Given the description of an element on the screen output the (x, y) to click on. 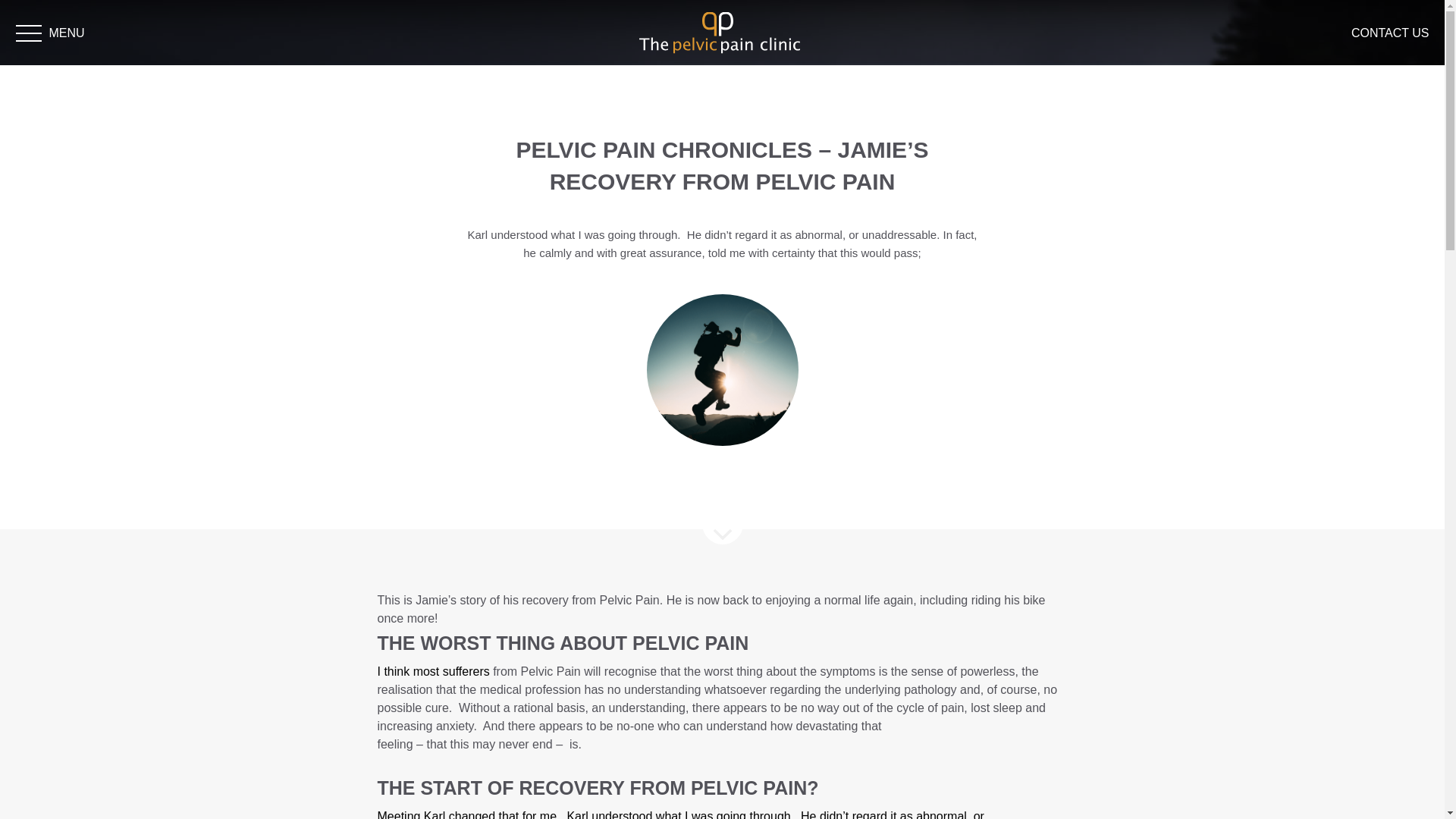
MENU (75, 42)
CONTACT US (1390, 31)
Scroll (721, 523)
The Pelvic Pain Clinic (719, 31)
